Given the description of an element on the screen output the (x, y) to click on. 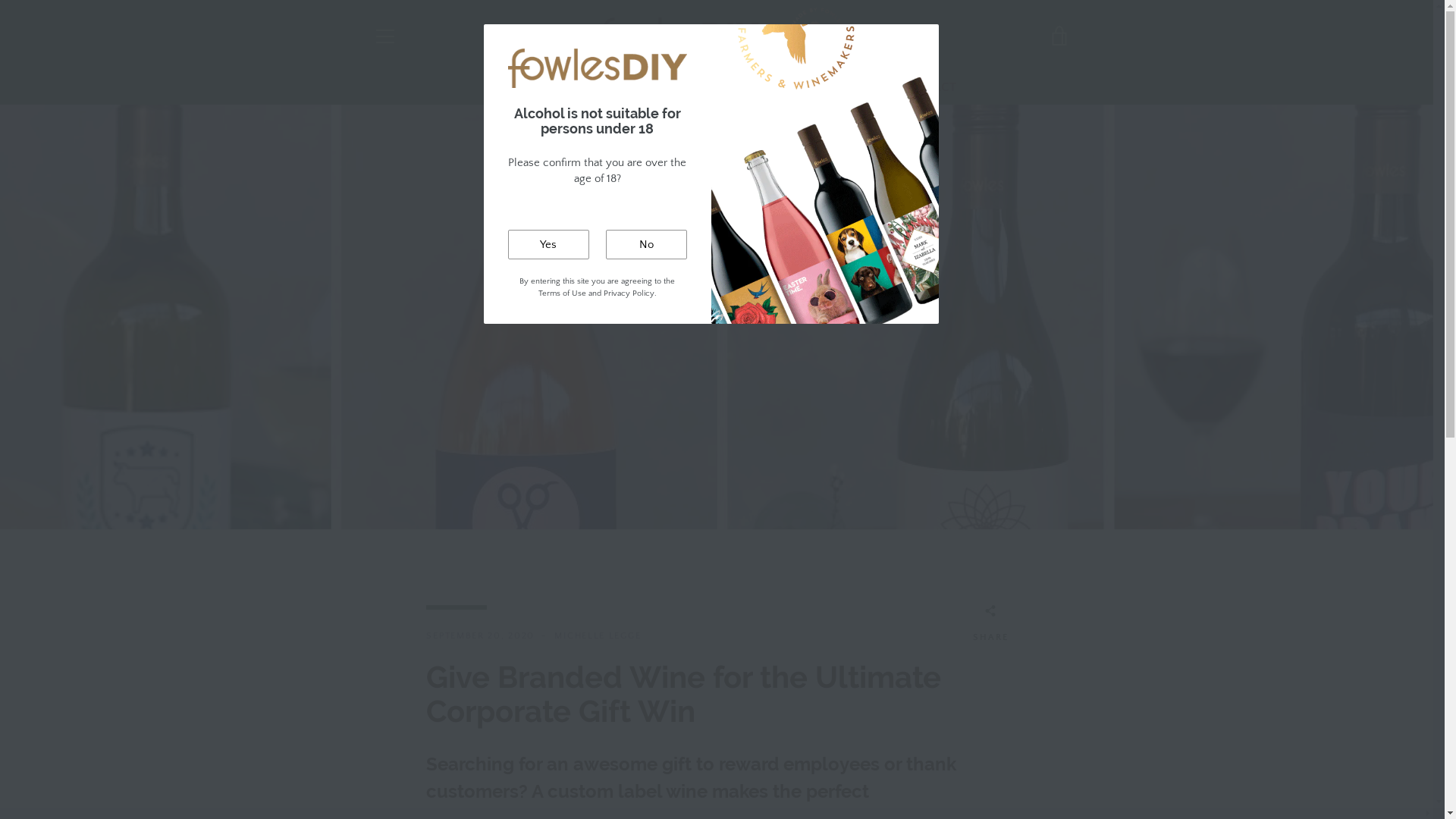
SUBSCRIBE Element type: text (1034, 677)
TERMS OF SERVICE Element type: text (418, 720)
Instagram Element type: text (398, 777)
Facebook Element type: text (372, 777)
FowlesDIY Element type: text (575, 777)
REFUND POLICY Element type: text (410, 697)
ABOUT Element type: text (389, 653)
Yes Element type: text (548, 244)
MENU Element type: text (384, 35)
IDEAS Element type: text (683, 88)
FAQS Element type: text (733, 88)
THE WINE Element type: text (851, 88)
No Element type: text (645, 244)
CONTACT Element type: text (395, 675)
VIEW CART Element type: text (1059, 35)
CONTACT Element type: text (927, 88)
SHARE Element type: text (989, 626)
Vimeo Element type: text (424, 777)
WHY DIY Element type: text (620, 88)
Skip to content Element type: text (0, 0)
SEARCH Element type: text (392, 608)
HOME Element type: text (506, 88)
SHOP Element type: text (560, 88)
TERMS AND CONDITIONS Element type: text (433, 631)
Shopify Experts Element type: text (689, 777)
NEWS Element type: text (785, 88)
